Given the description of an element on the screen output the (x, y) to click on. 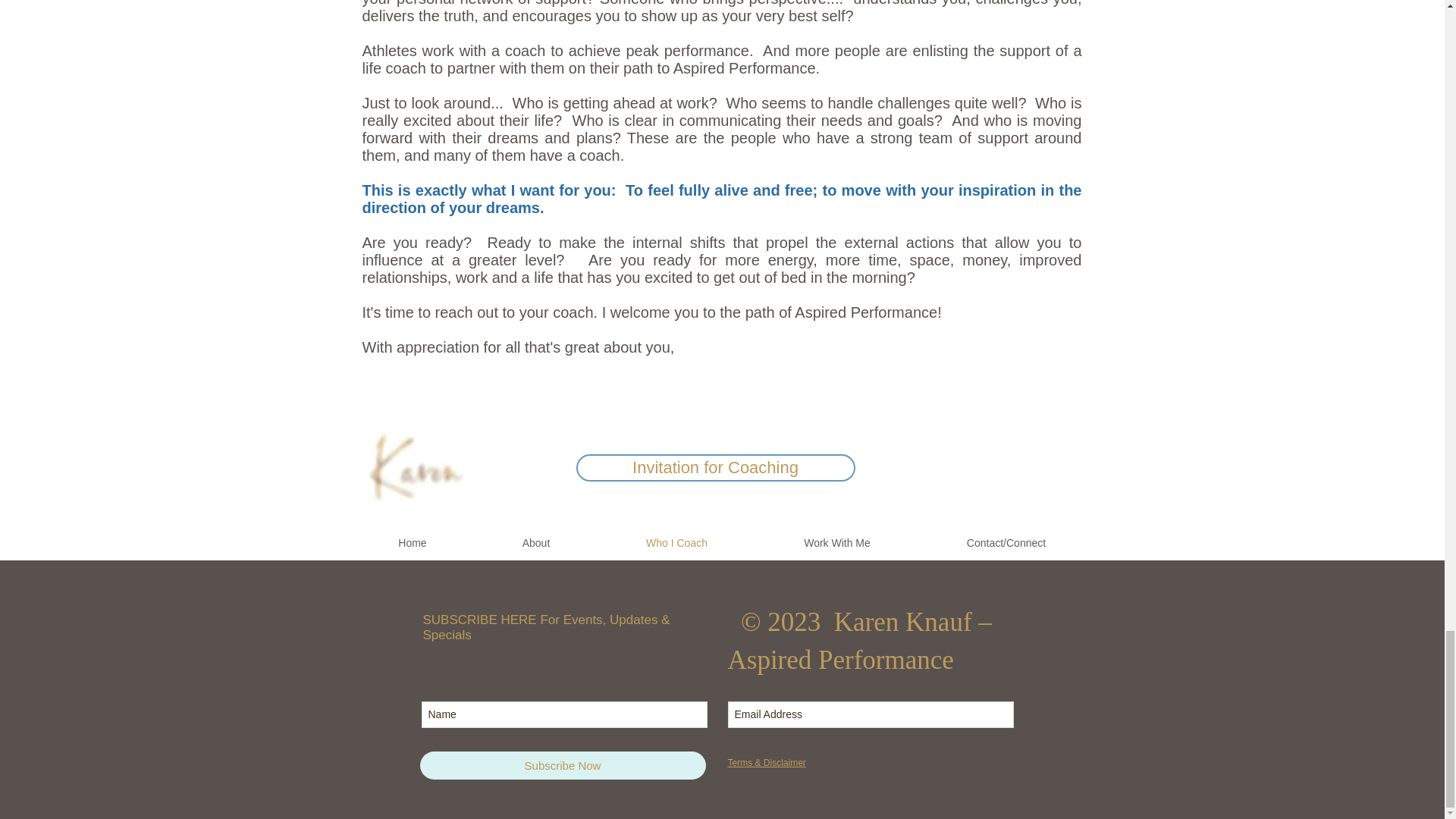
About (536, 542)
Invitation for Coaching (716, 467)
Subscribe Now (563, 765)
Who I Coach (675, 542)
Home (412, 542)
Work With Me (836, 542)
